Given the description of an element on the screen output the (x, y) to click on. 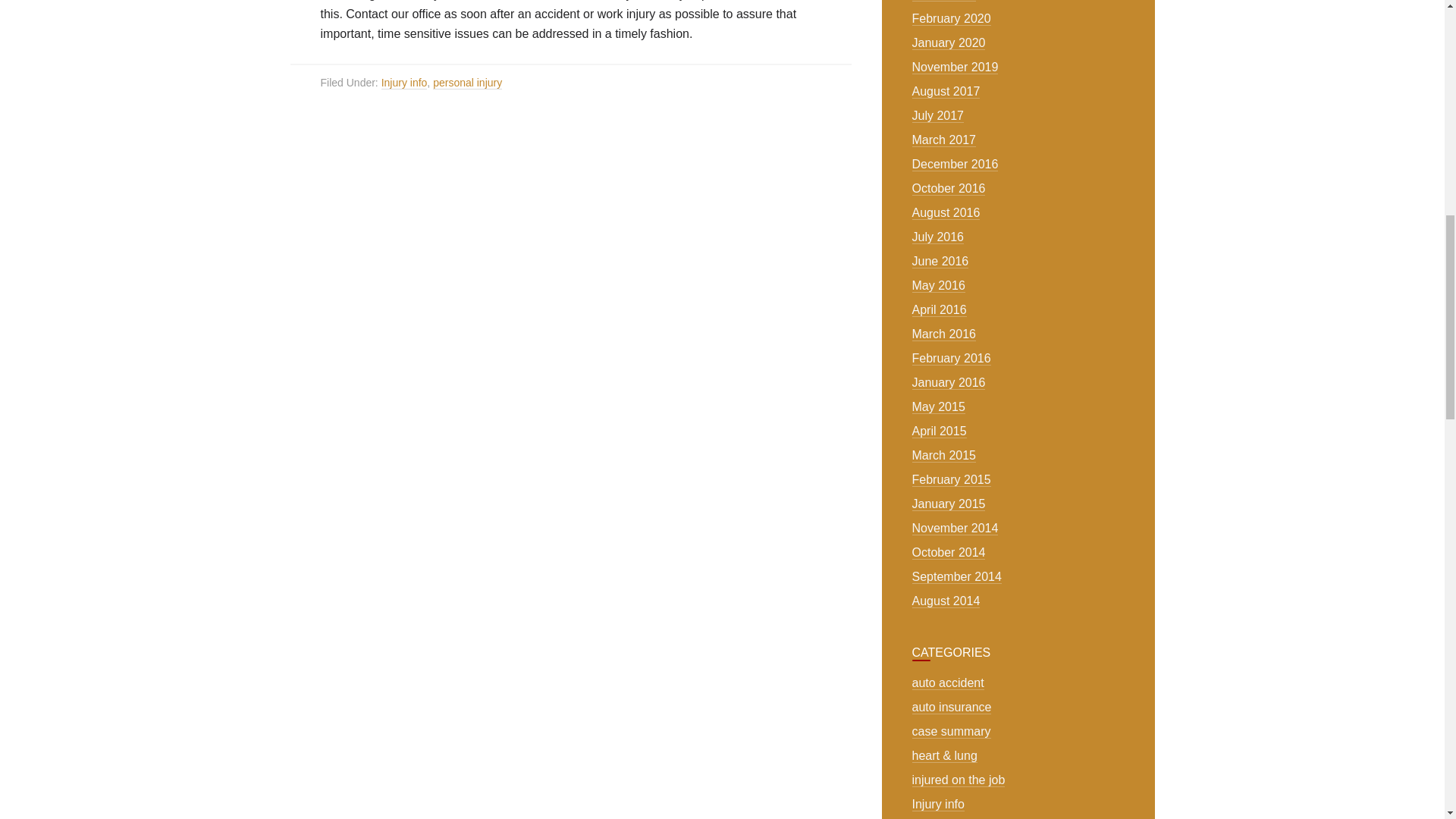
May 2016 (938, 285)
Injury info (404, 82)
March 2020 (944, 0)
personal injury (467, 82)
March 2017 (944, 140)
July 2017 (937, 115)
July 2016 (937, 237)
August 2017 (945, 91)
November 2019 (955, 67)
June 2016 (940, 261)
